Given the description of an element on the screen output the (x, y) to click on. 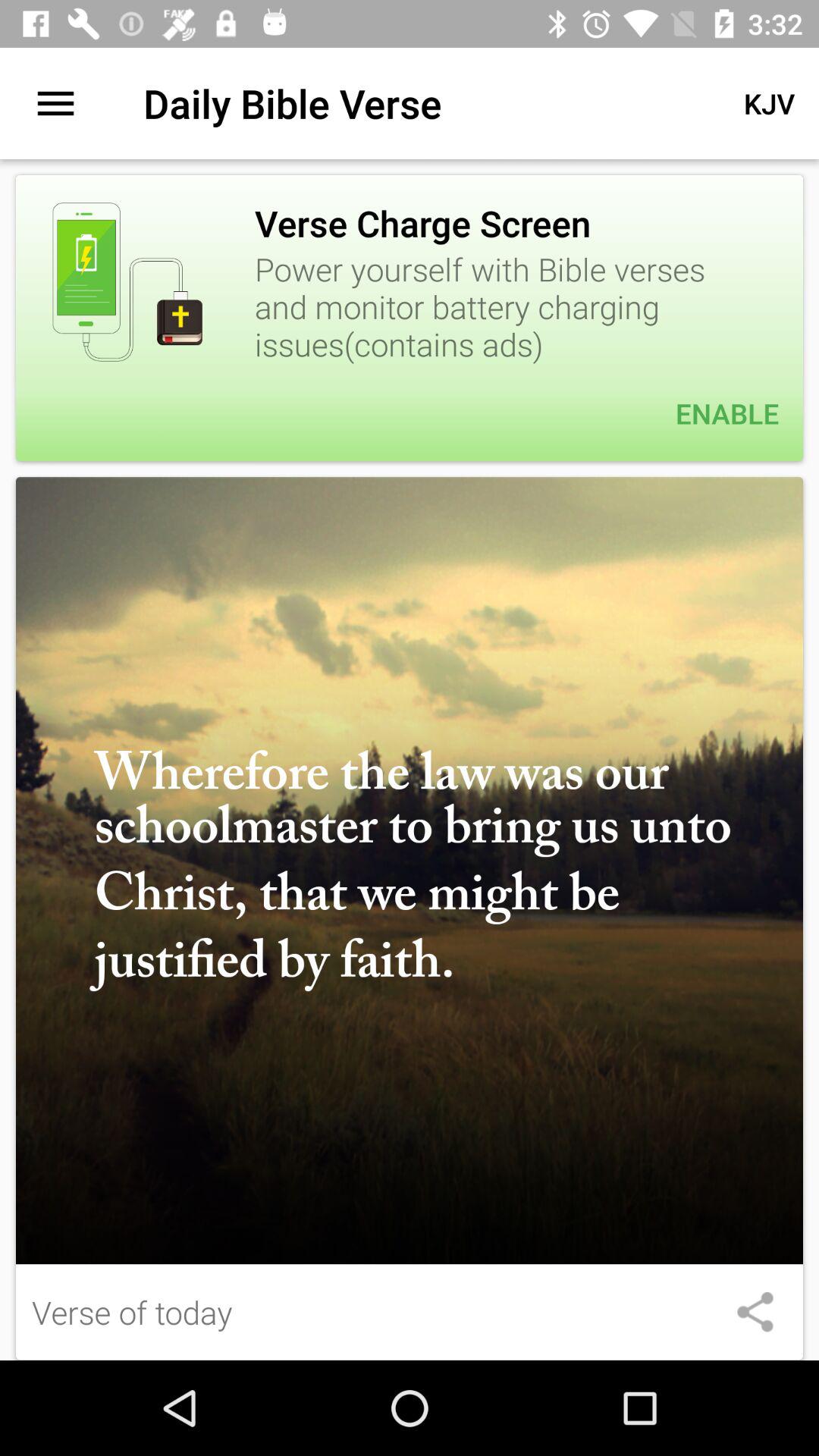
select icon next to the daily bible verse app (55, 103)
